Given the description of an element on the screen output the (x, y) to click on. 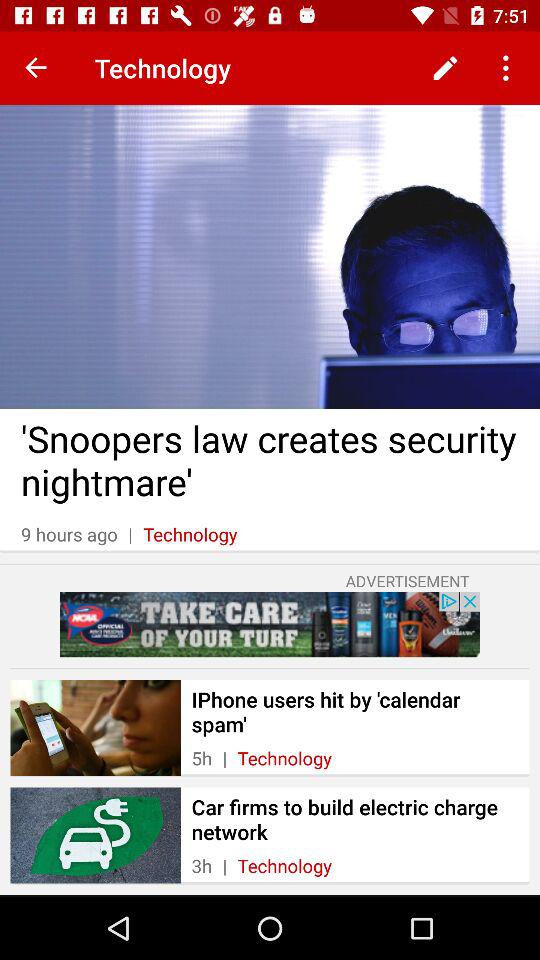
advertasment (270, 624)
